Given the description of an element on the screen output the (x, y) to click on. 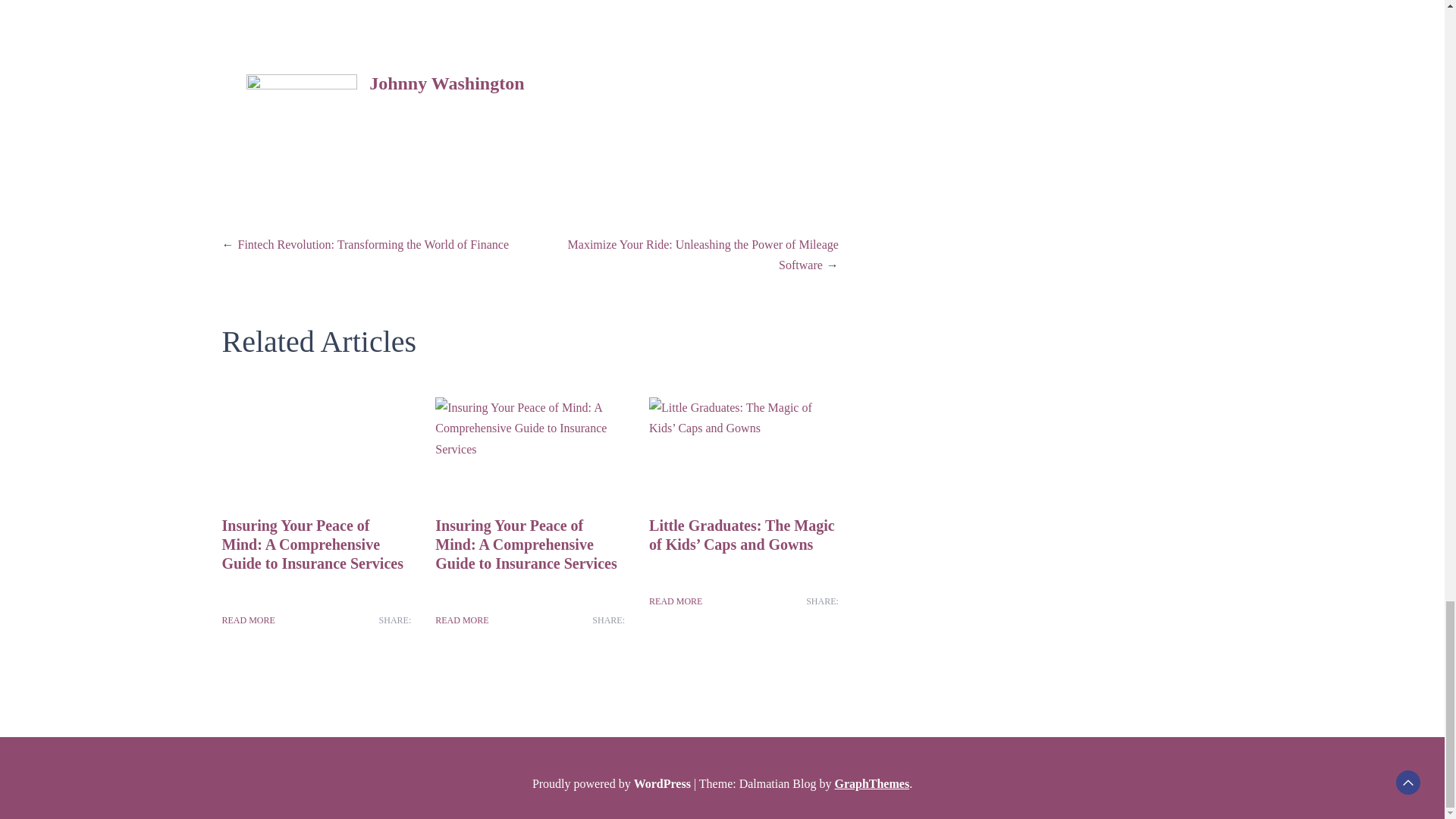
Maximize Your Ride: Unleashing the Power of Mileage Software (702, 254)
Proudly powered by WordPress (613, 783)
READ MORE (461, 620)
Fintech Revolution: Transforming the World of Finance (373, 244)
READ MORE (675, 601)
Johnny Washington (446, 83)
GraphThemes (871, 783)
READ MORE (248, 620)
